Given the description of an element on the screen output the (x, y) to click on. 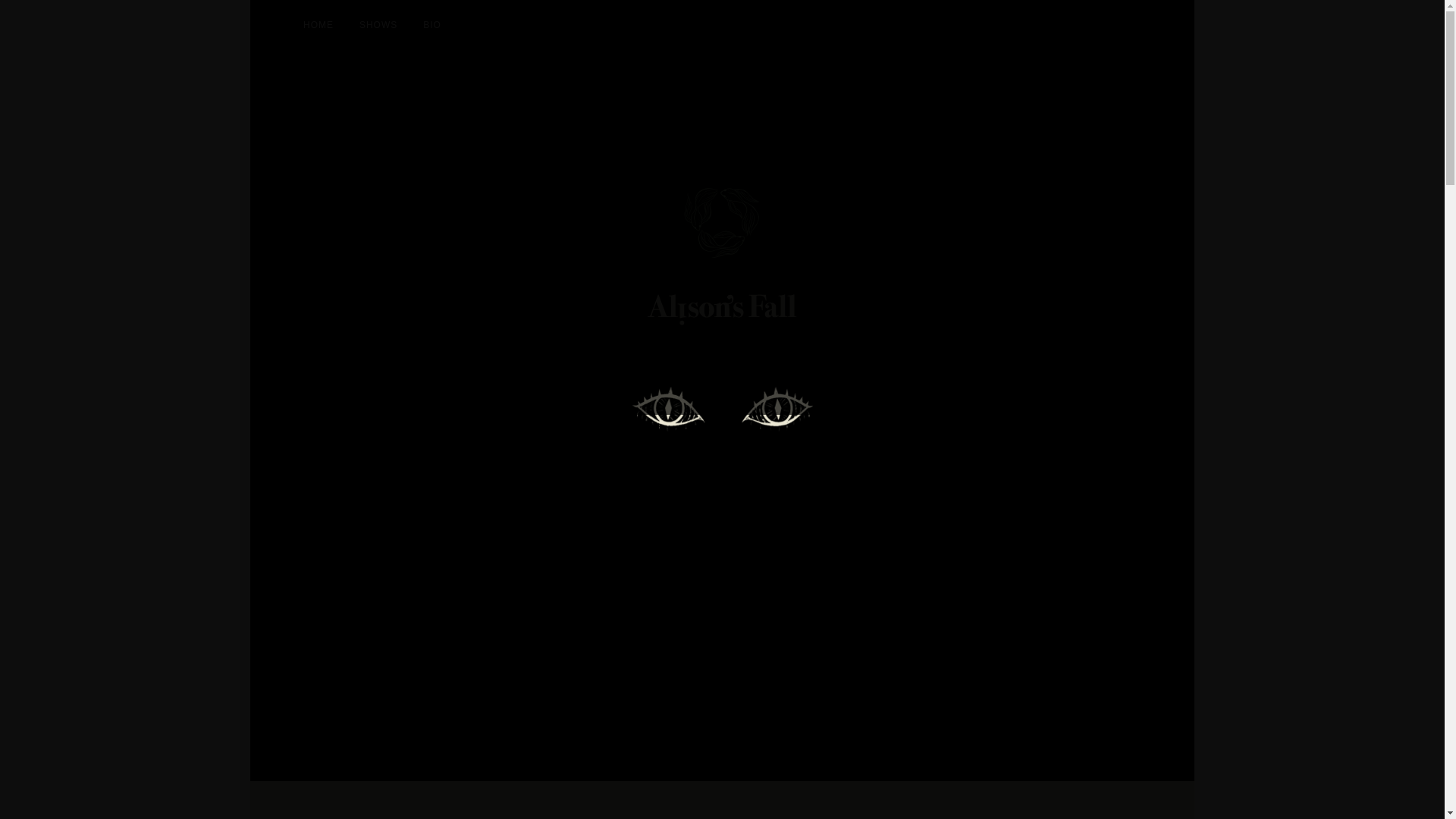
SHOWS (378, 24)
BIO (432, 24)
HOME (317, 24)
